Given the description of an element on the screen output the (x, y) to click on. 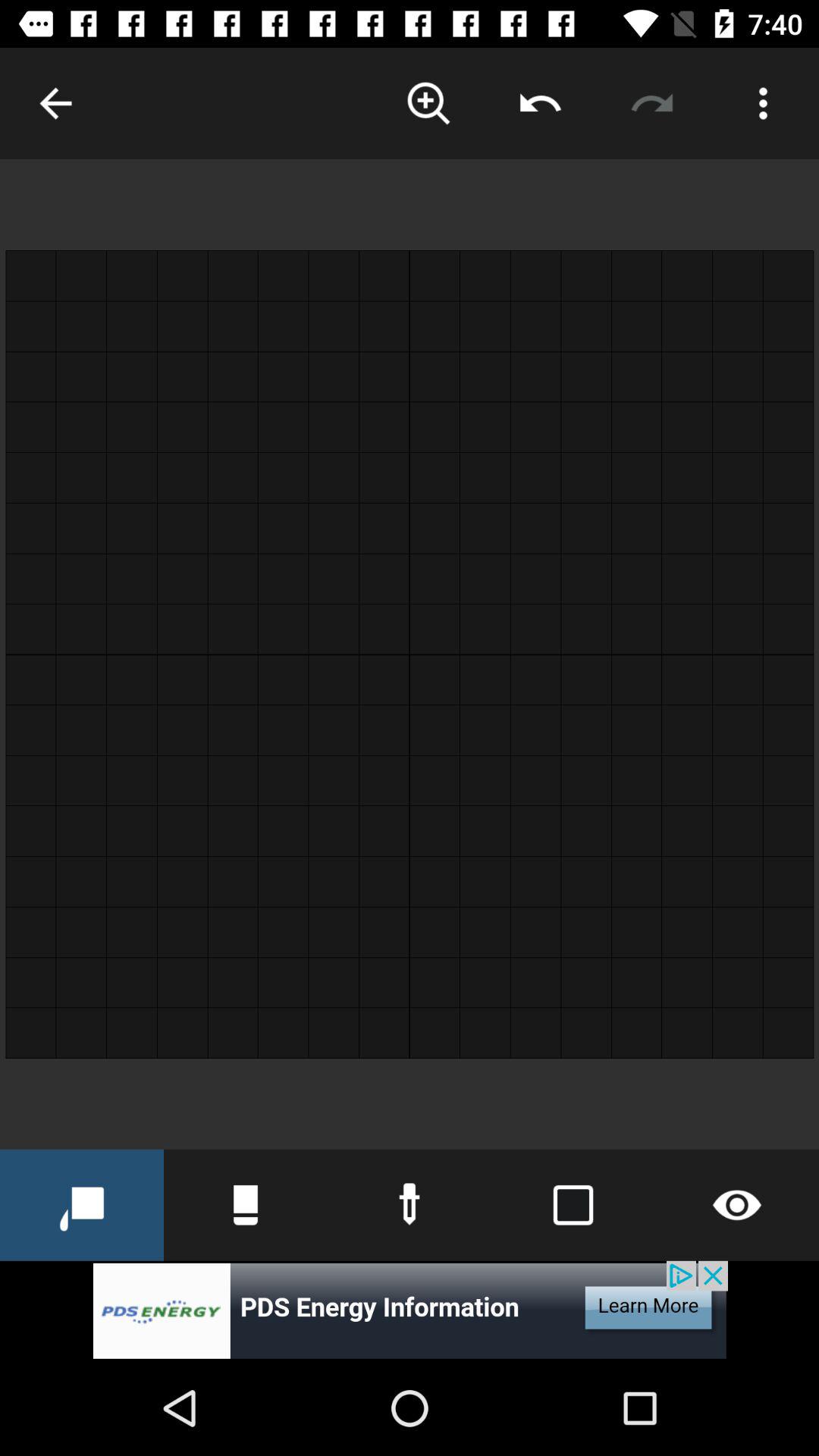
undo action (540, 103)
